Given the description of an element on the screen output the (x, y) to click on. 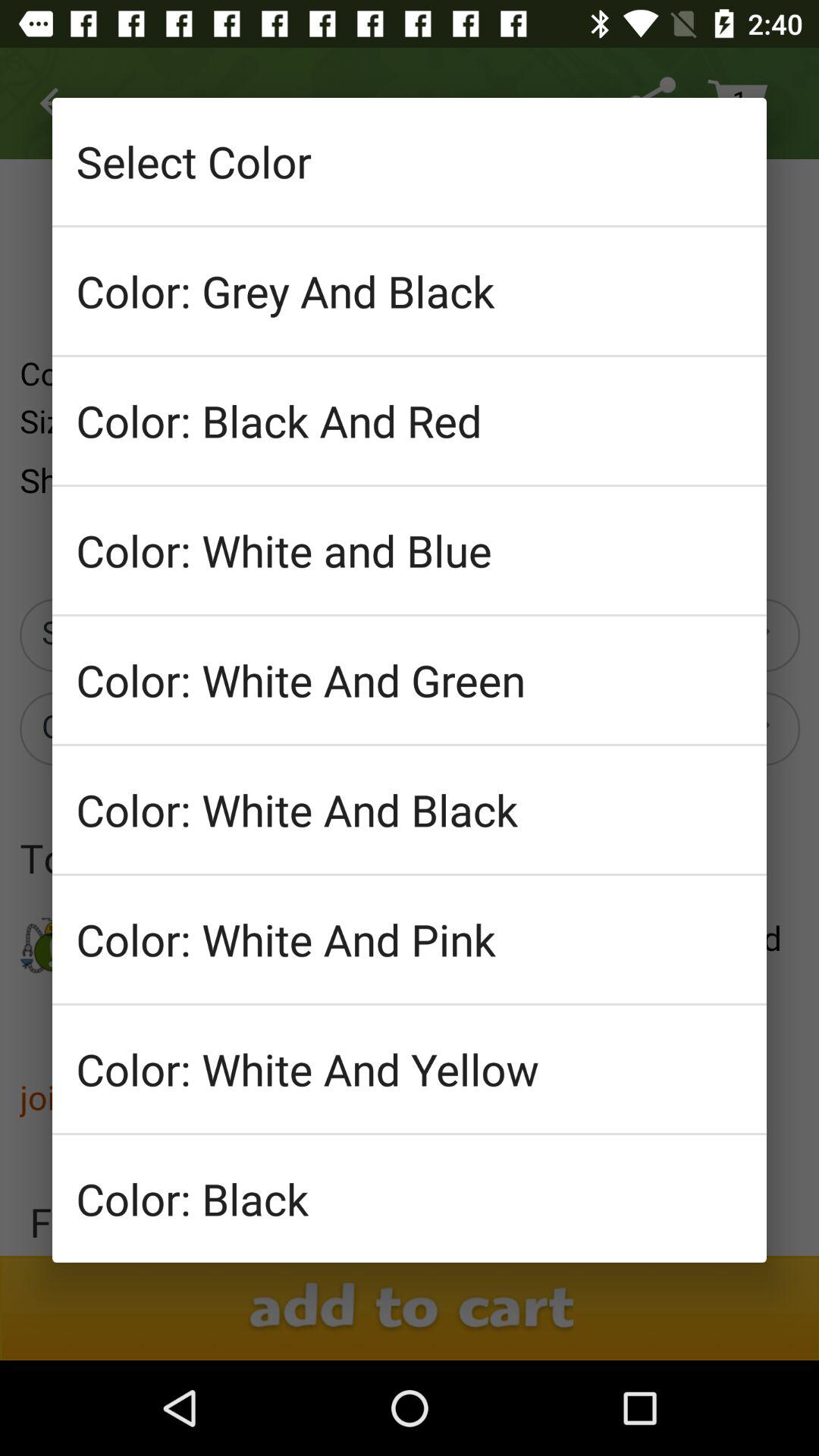
choose the select color icon (409, 161)
